Given the description of an element on the screen output the (x, y) to click on. 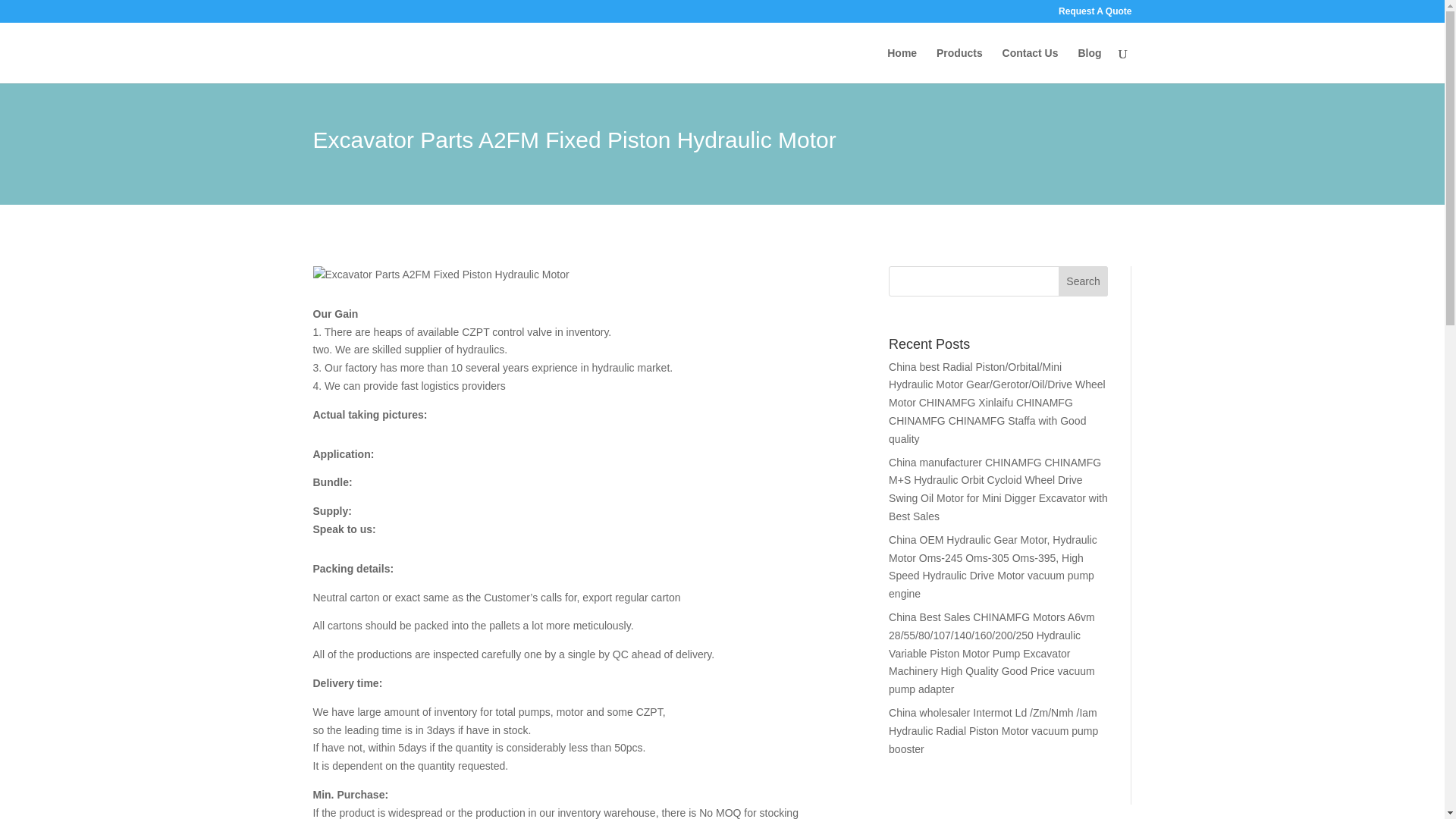
Search (1083, 281)
Search (1083, 281)
Products (959, 65)
Request A Quote (1094, 14)
Excavator Parts A2FM Fixed Piston Hydraulic Motor (441, 275)
Contact Us (1030, 65)
